Given the description of an element on the screen output the (x, y) to click on. 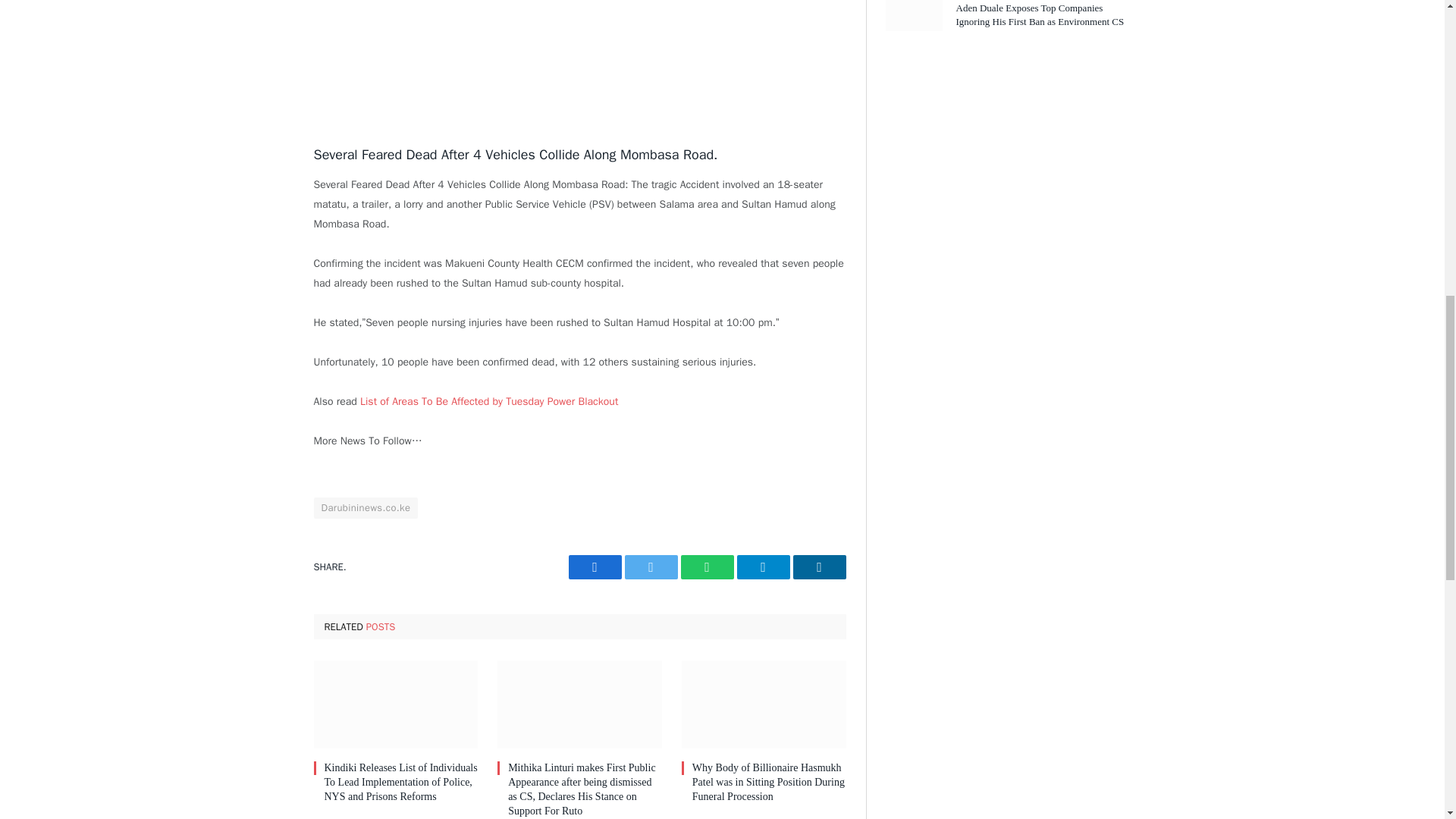
Darubininews.co.ke (366, 507)
List of Areas To Be Affected by Tuesday Power Blackout (488, 400)
Twitter (651, 567)
Telegram (763, 567)
WhatsApp (707, 567)
LinkedIn (819, 567)
Share on Facebook (595, 567)
Facebook (595, 567)
